Given the description of an element on the screen output the (x, y) to click on. 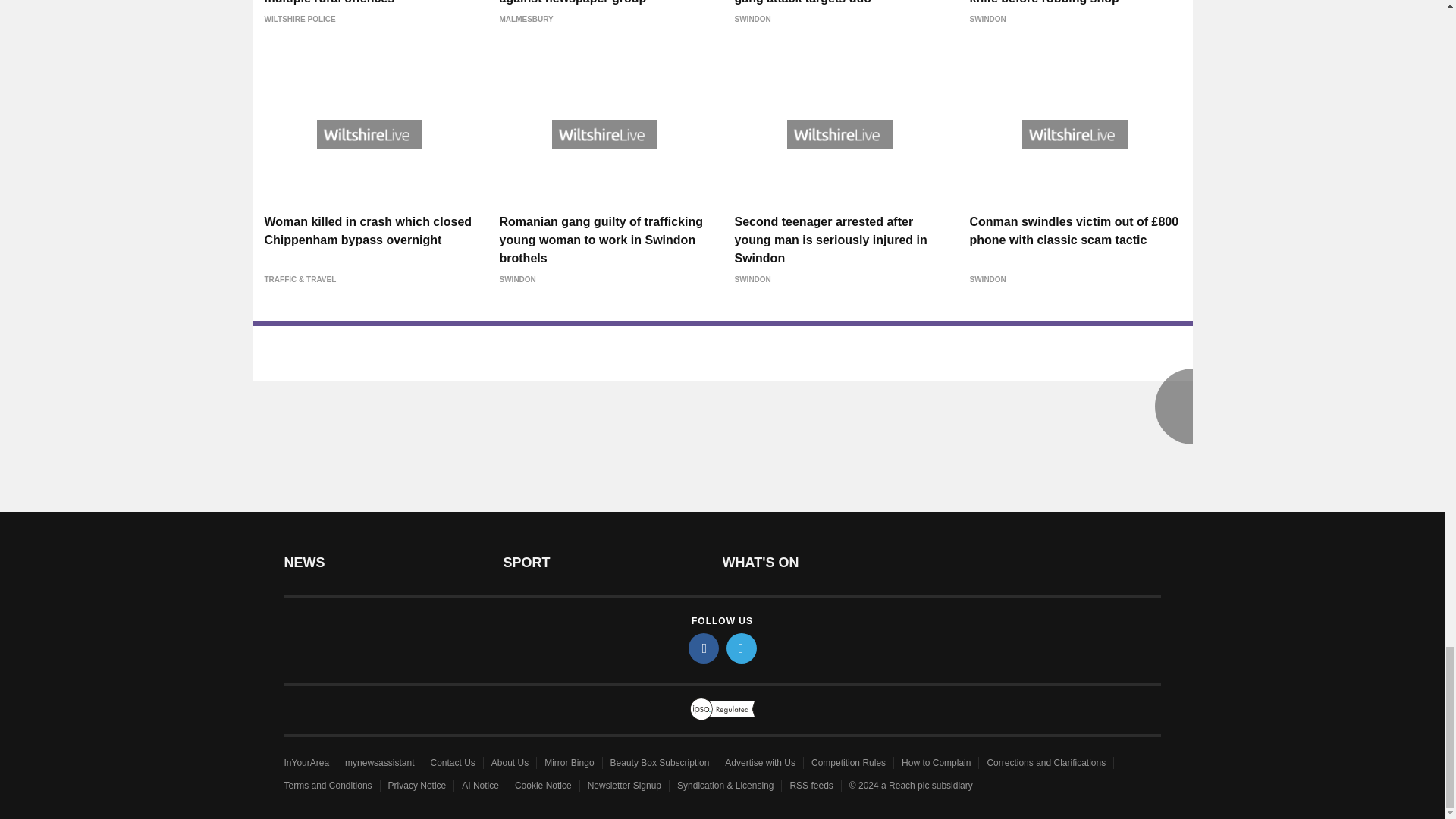
facebook (703, 648)
twitter (741, 648)
